Given the description of an element on the screen output the (x, y) to click on. 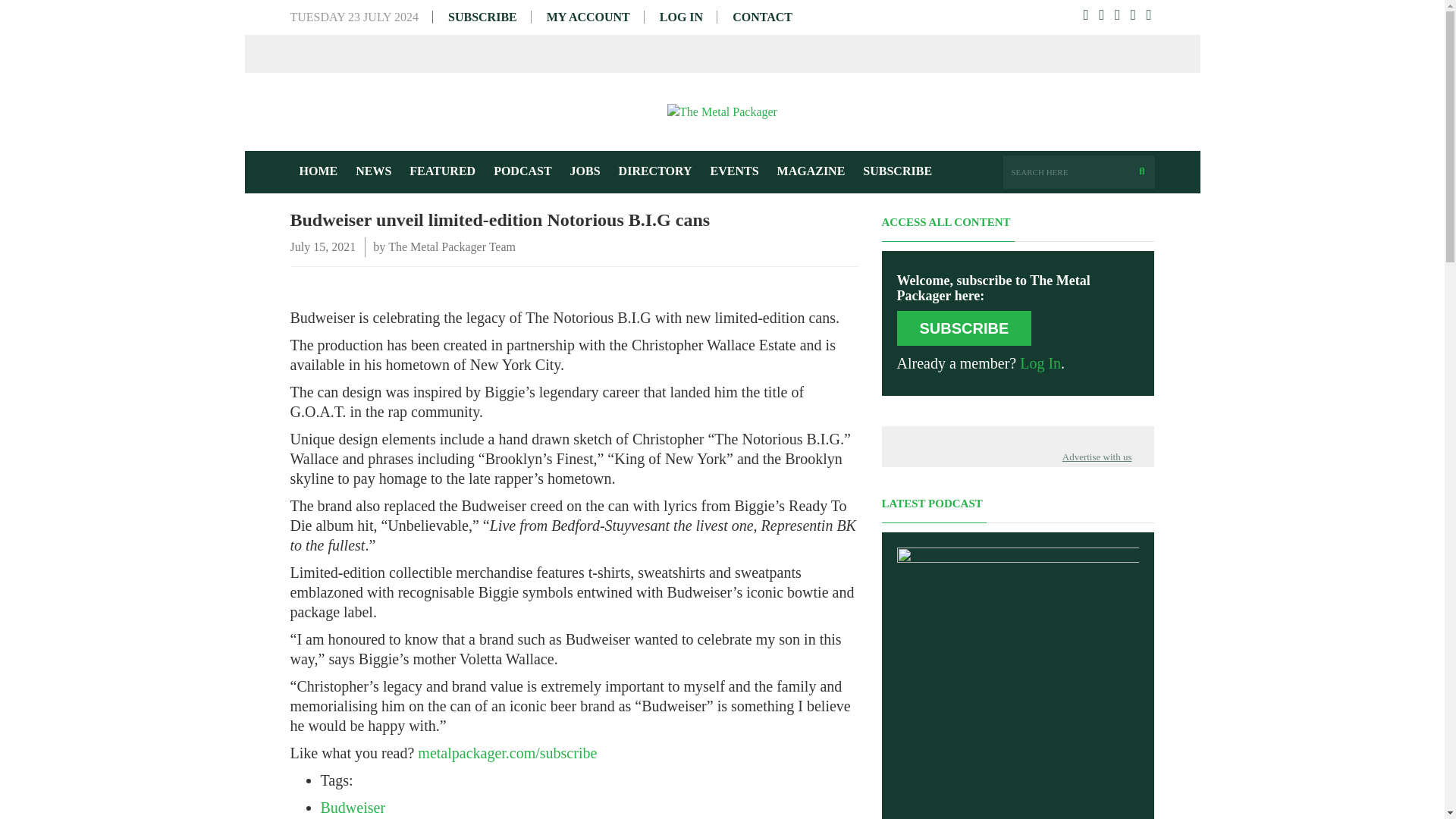
SUBSCRIBE (963, 328)
Featured (442, 170)
CONTACT (762, 16)
The Metal Packager Team (451, 247)
Posts by The Metal Packager Team (451, 247)
Directory (655, 170)
Home (317, 170)
The Metal Packager (721, 110)
Budweiser (352, 807)
MAGAZINE (811, 170)
NEWS (373, 170)
Subscribe (896, 170)
News (373, 170)
Magazine (811, 170)
EVENTS (734, 170)
